Given the description of an element on the screen output the (x, y) to click on. 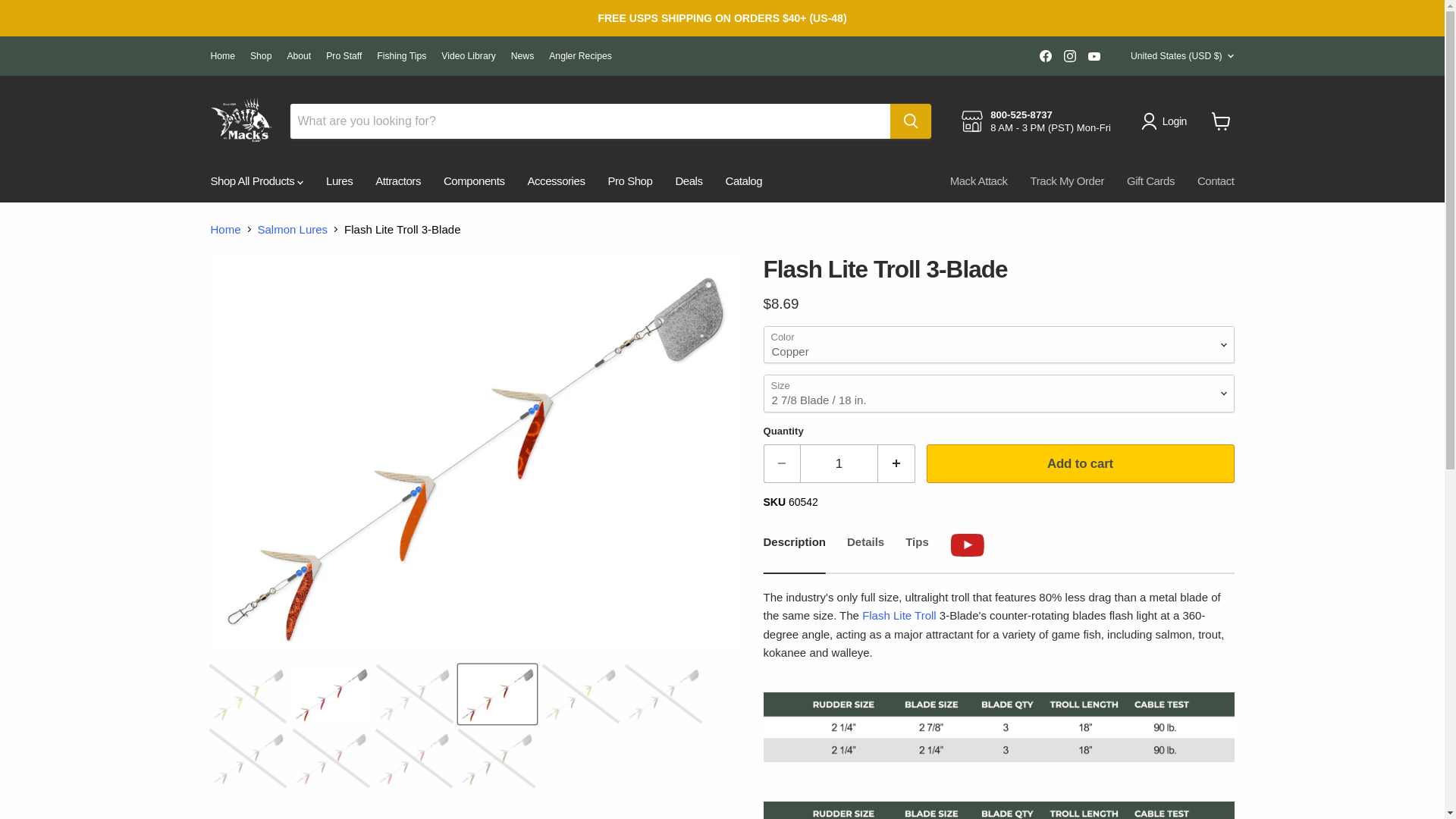
YouTube (1094, 55)
Fishing Tips (401, 55)
Shop (260, 55)
Home (222, 55)
Angler Recipes (579, 55)
Facebook (1046, 55)
Find us on YouTube (1094, 55)
Find us on Facebook (1046, 55)
Pro Staff (343, 55)
Instagram (1069, 55)
News (522, 55)
1 (838, 463)
Video Library (468, 55)
Find us on Instagram (1069, 55)
About (298, 55)
